Given the description of an element on the screen output the (x, y) to click on. 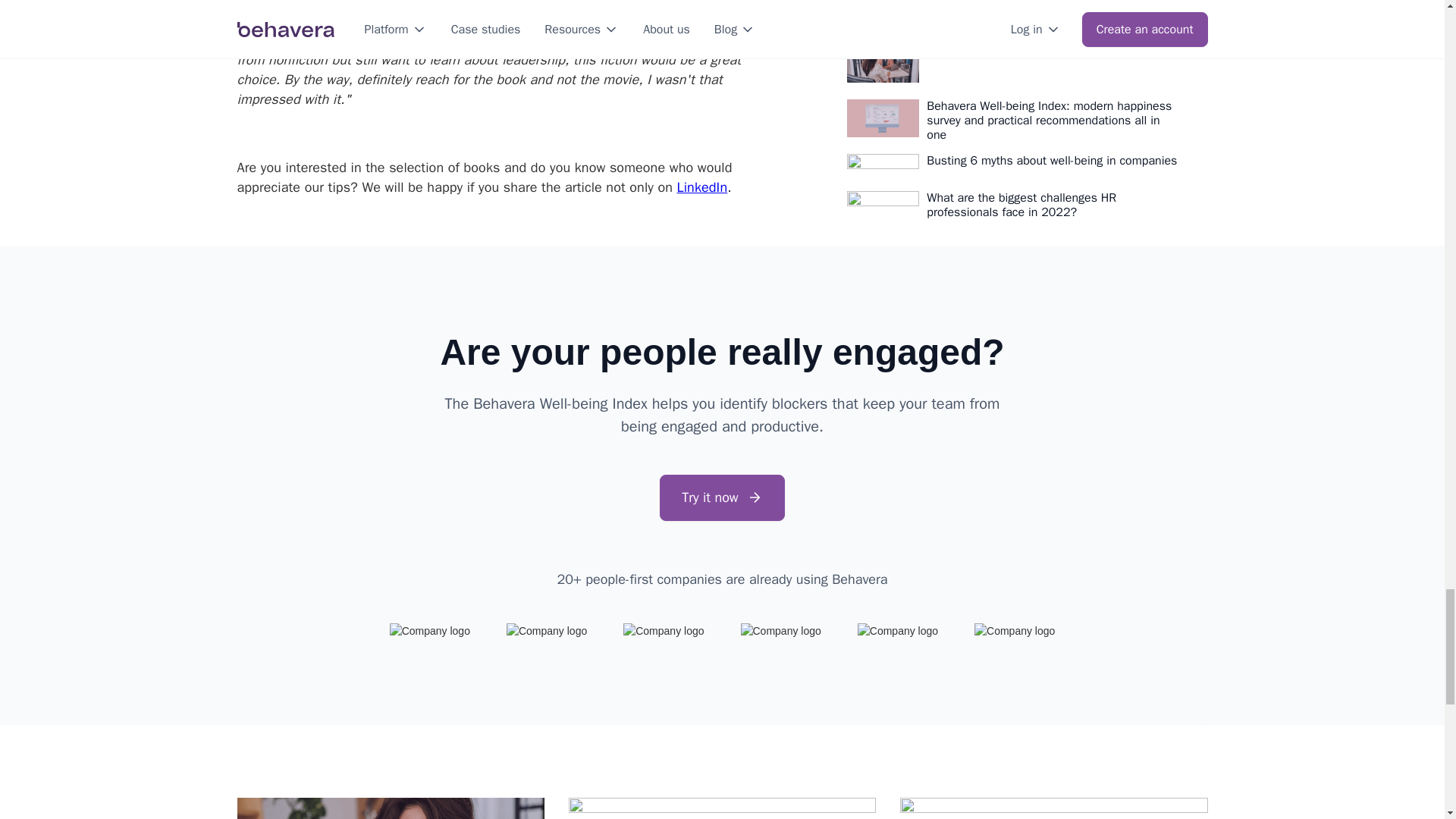
LinkedIn (702, 187)
